Given the description of an element on the screen output the (x, y) to click on. 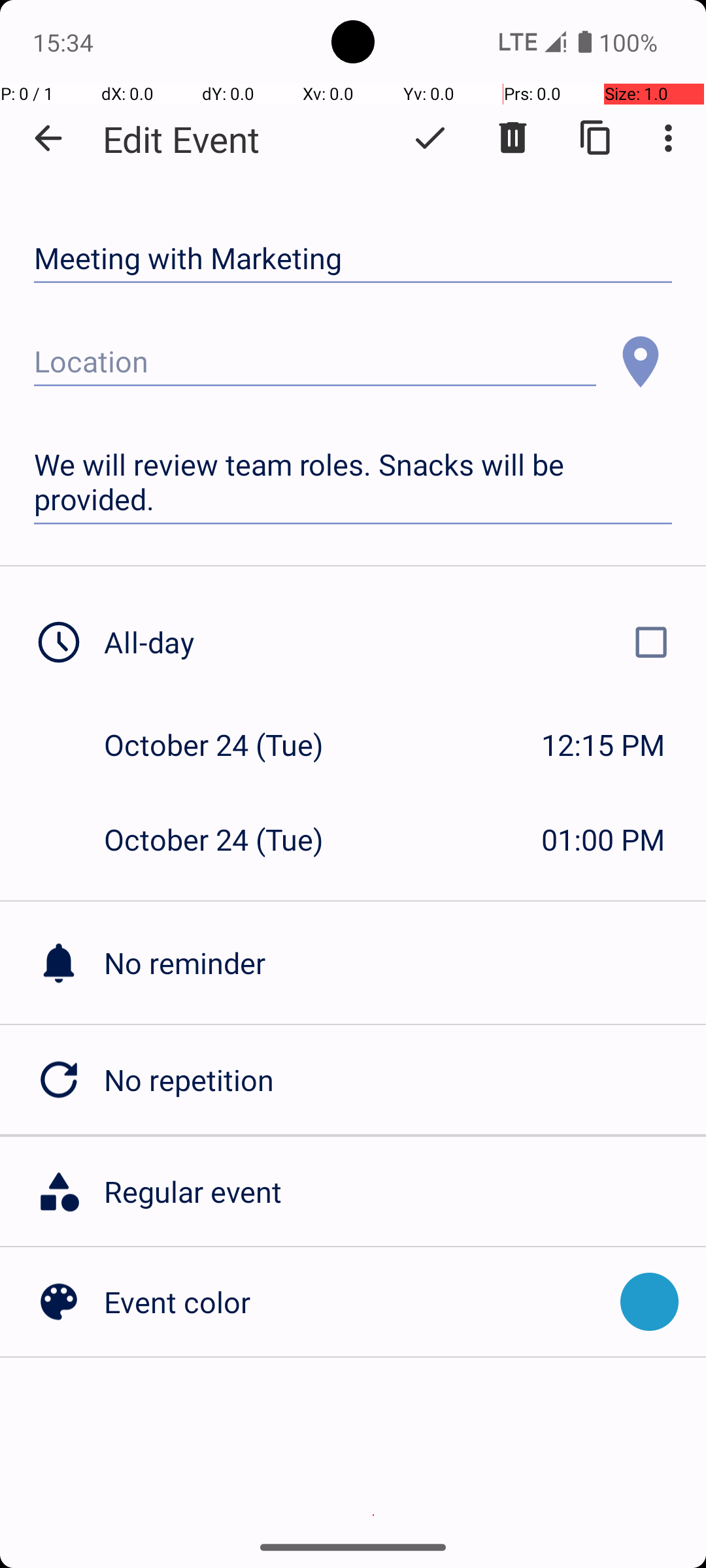
We will review team roles. Snacks will be provided. Element type: android.widget.EditText (352, 482)
October 24 (Tue) Element type: android.widget.TextView (227, 744)
12:15 PM Element type: android.widget.TextView (602, 744)
01:00 PM Element type: android.widget.TextView (602, 838)
